Given the description of an element on the screen output the (x, y) to click on. 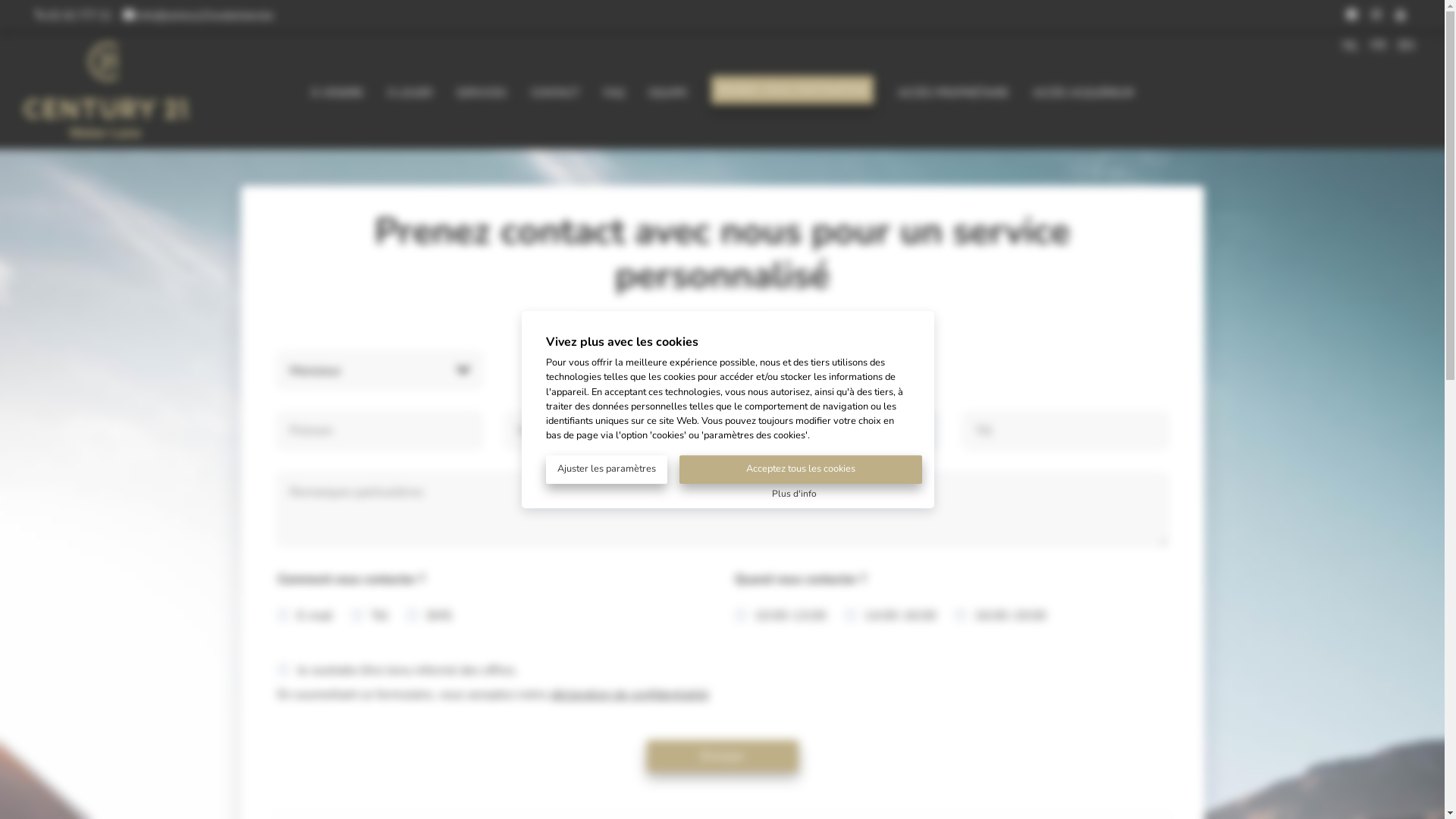
SERVICES Element type: text (481, 89)
NL Element type: text (1350, 45)
RENDEZ-VOUS D'ESTIMATION Element type: text (792, 89)
  Element type: text (1353, 15)
EN Element type: text (1406, 45)
FAQ Element type: text (614, 89)
Plus d'info Element type: text (793, 492)
  Element type: text (1377, 15)
EQUIPE Element type: text (668, 89)
 info@century21waterlane.be Element type: text (198, 15)
RENDEZ-VOUS D'ESTIMATION Element type: text (792, 87)
 02 42 777 21 Element type: text (73, 15)
Envoyer Element type: text (721, 755)
Go to the homepage Element type: hover (107, 133)
  Element type: text (1402, 15)
CONTACT Element type: text (554, 89)
FR Element type: text (1378, 45)
Acceptez tous les cookies Element type: text (800, 469)
